Given the description of an element on the screen output the (x, y) to click on. 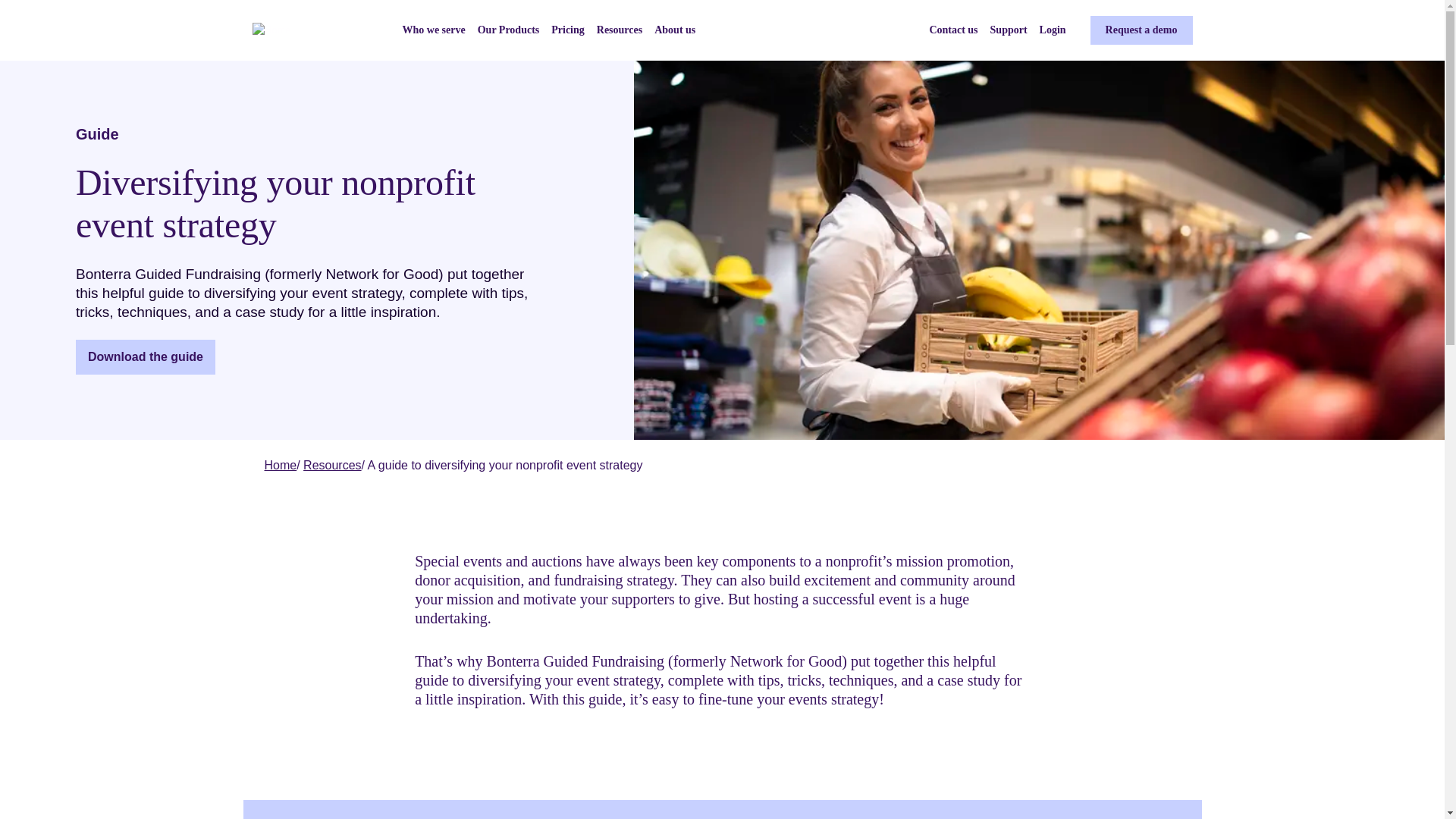
Request a demo (1141, 30)
Contact us (952, 29)
Pricing (568, 30)
Support (1008, 29)
About us (674, 30)
Resources (619, 30)
Our Products (508, 30)
Login (1052, 29)
Who we serve (432, 30)
